Given the description of an element on the screen output the (x, y) to click on. 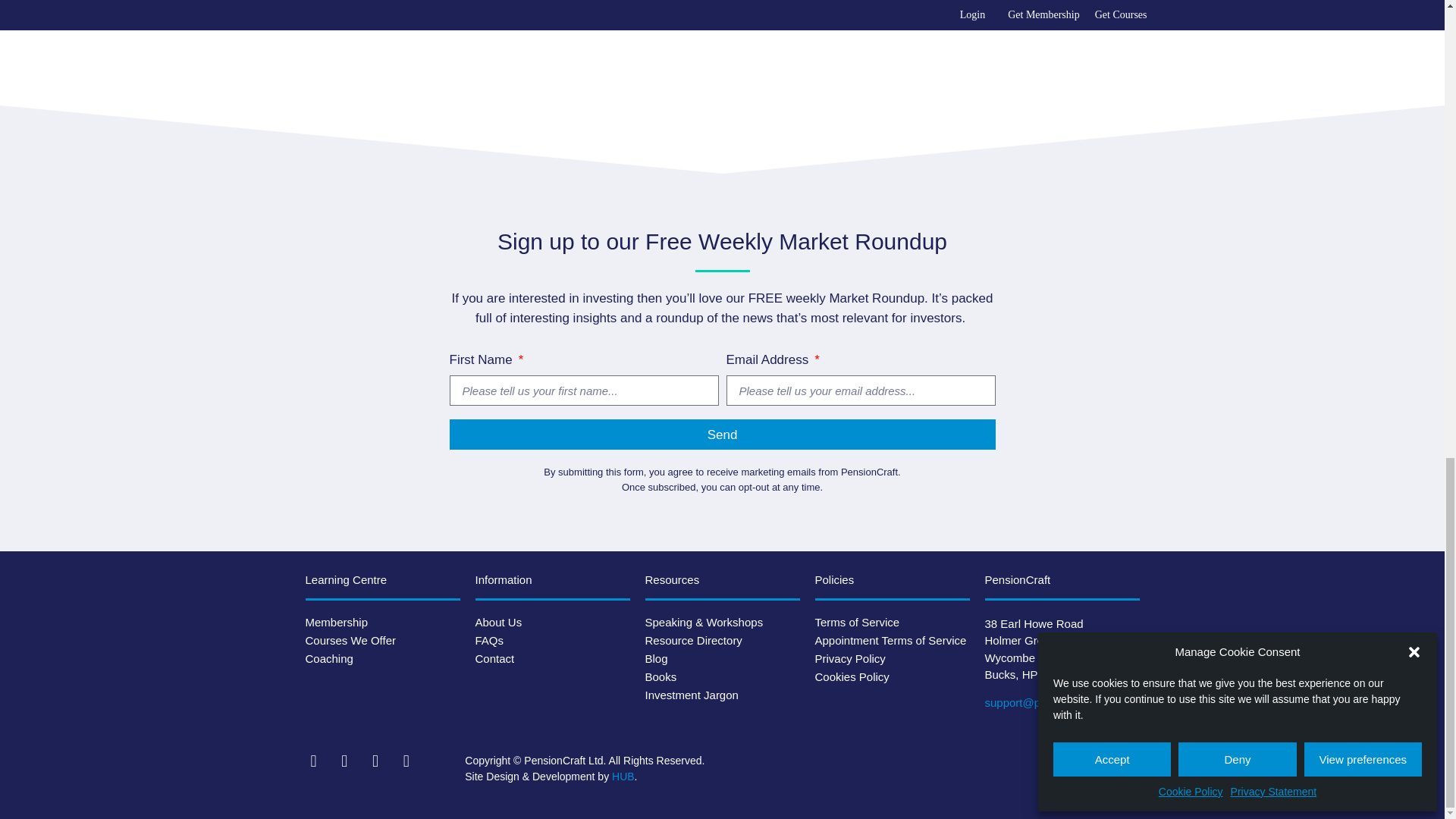
PensionCraft Resource Directory (722, 640)
